Given the description of an element on the screen output the (x, y) to click on. 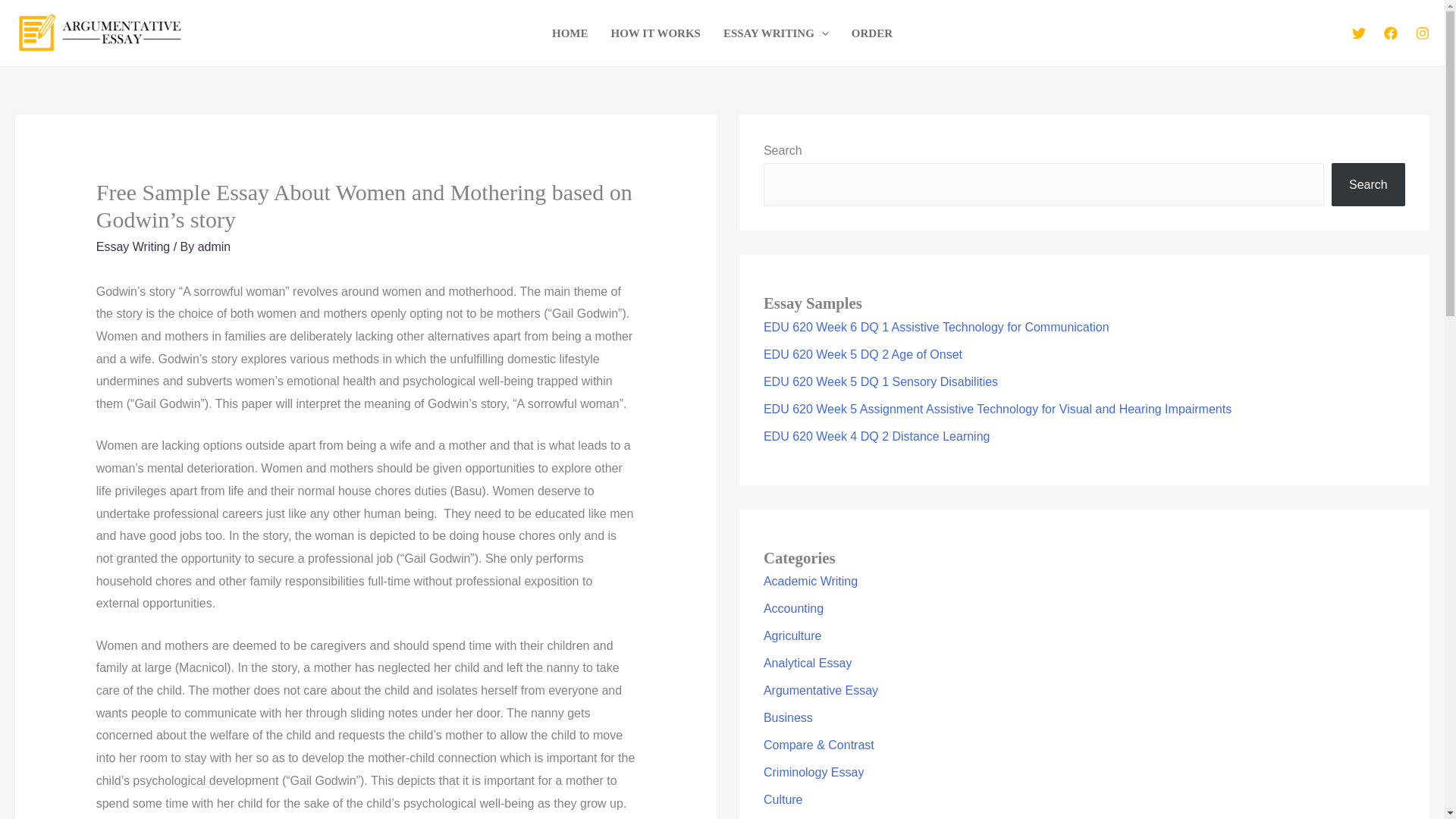
ESSAY WRITING (775, 31)
Accounting (793, 608)
Criminology Essay (812, 771)
Essay Writing (133, 246)
ORDER (872, 31)
Agriculture (791, 635)
Argumentative Essay (819, 689)
EDU 620 Week 5 DQ 2 Age of Onset (862, 354)
Academic Writing (809, 581)
